Given the description of an element on the screen output the (x, y) to click on. 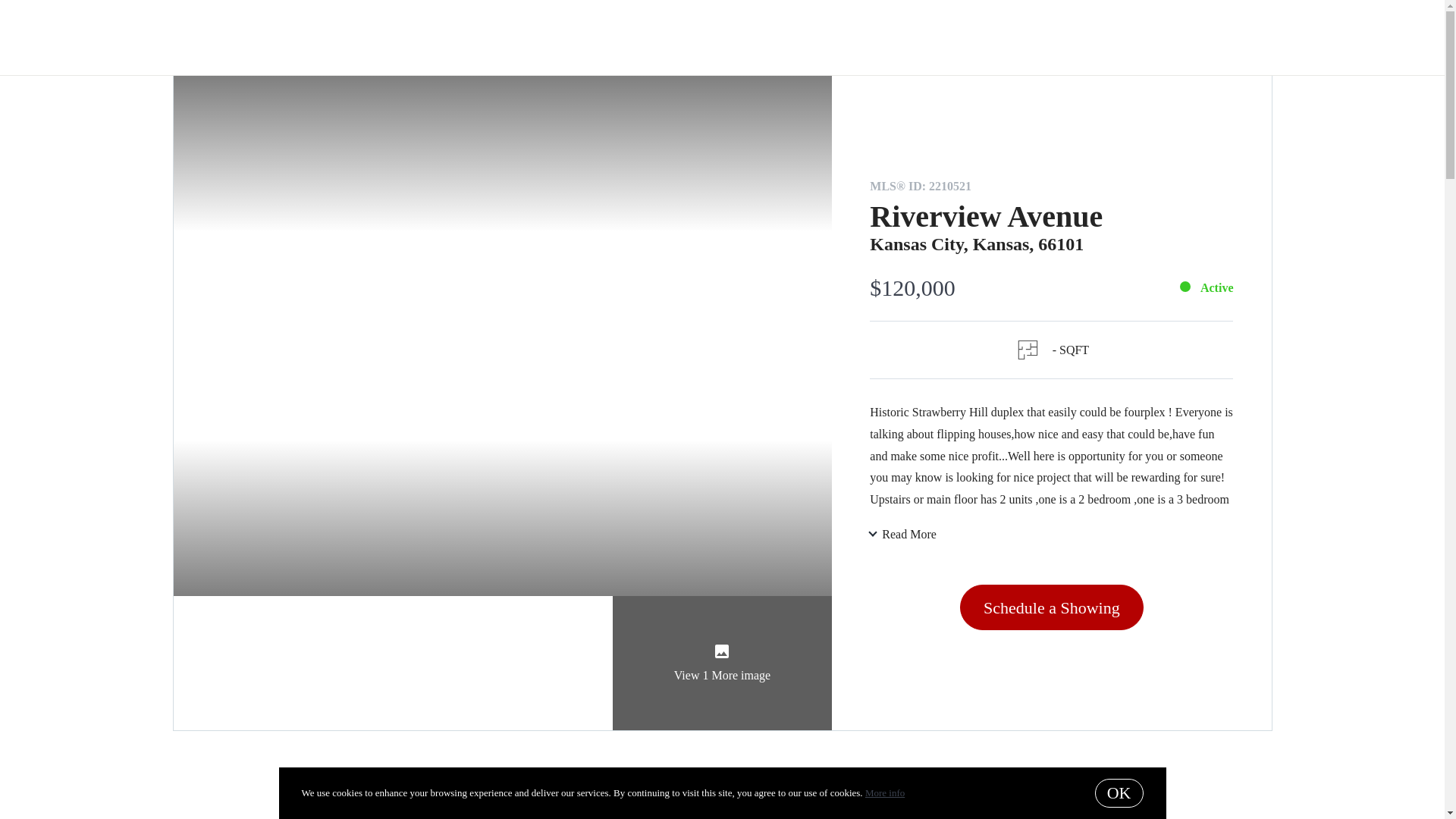
View 1 More image (722, 663)
OK (1118, 792)
Schedule a Showing (1050, 606)
More info (884, 792)
